Given the description of an element on the screen output the (x, y) to click on. 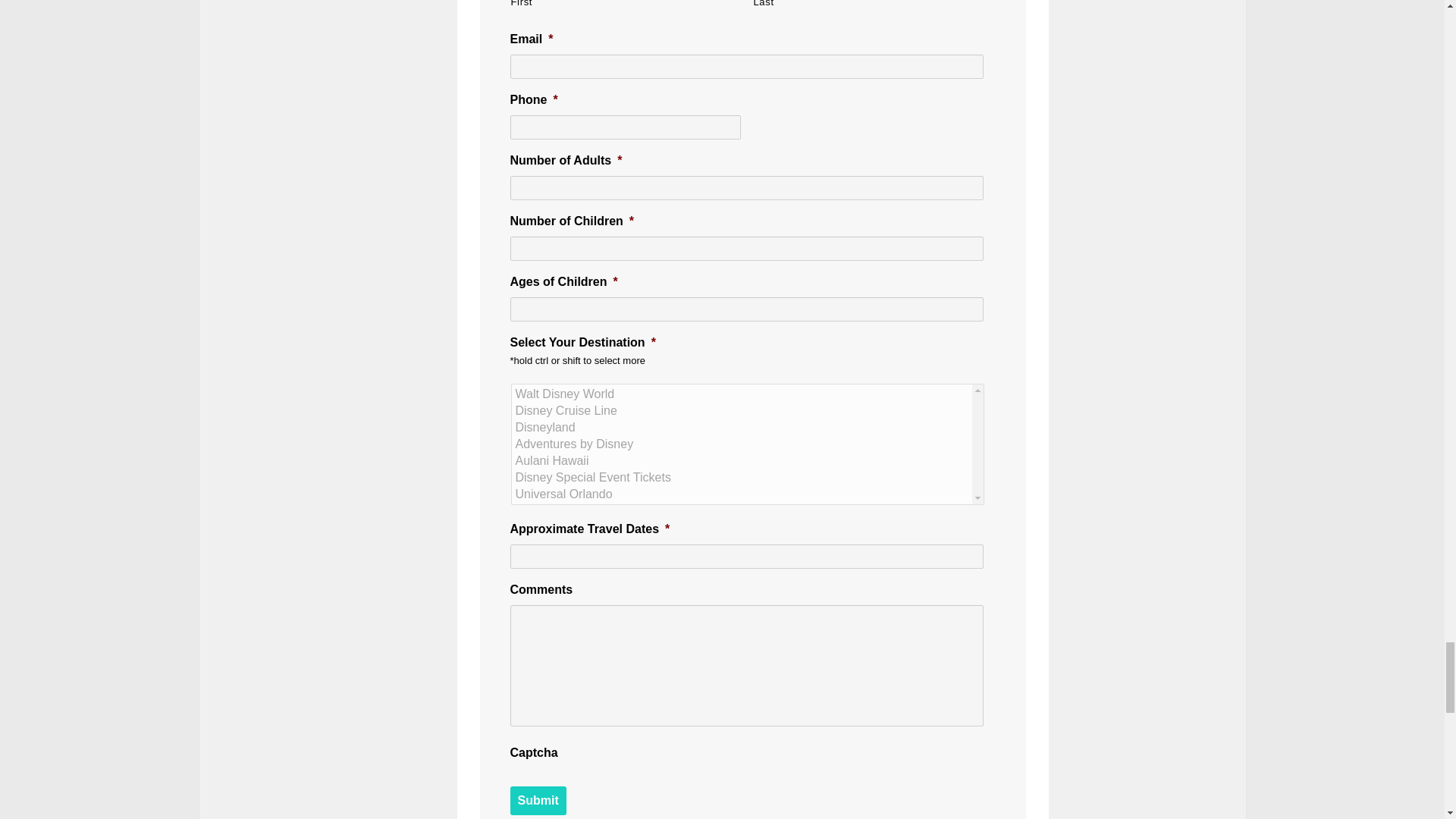
Submit (537, 800)
